Given the description of an element on the screen output the (x, y) to click on. 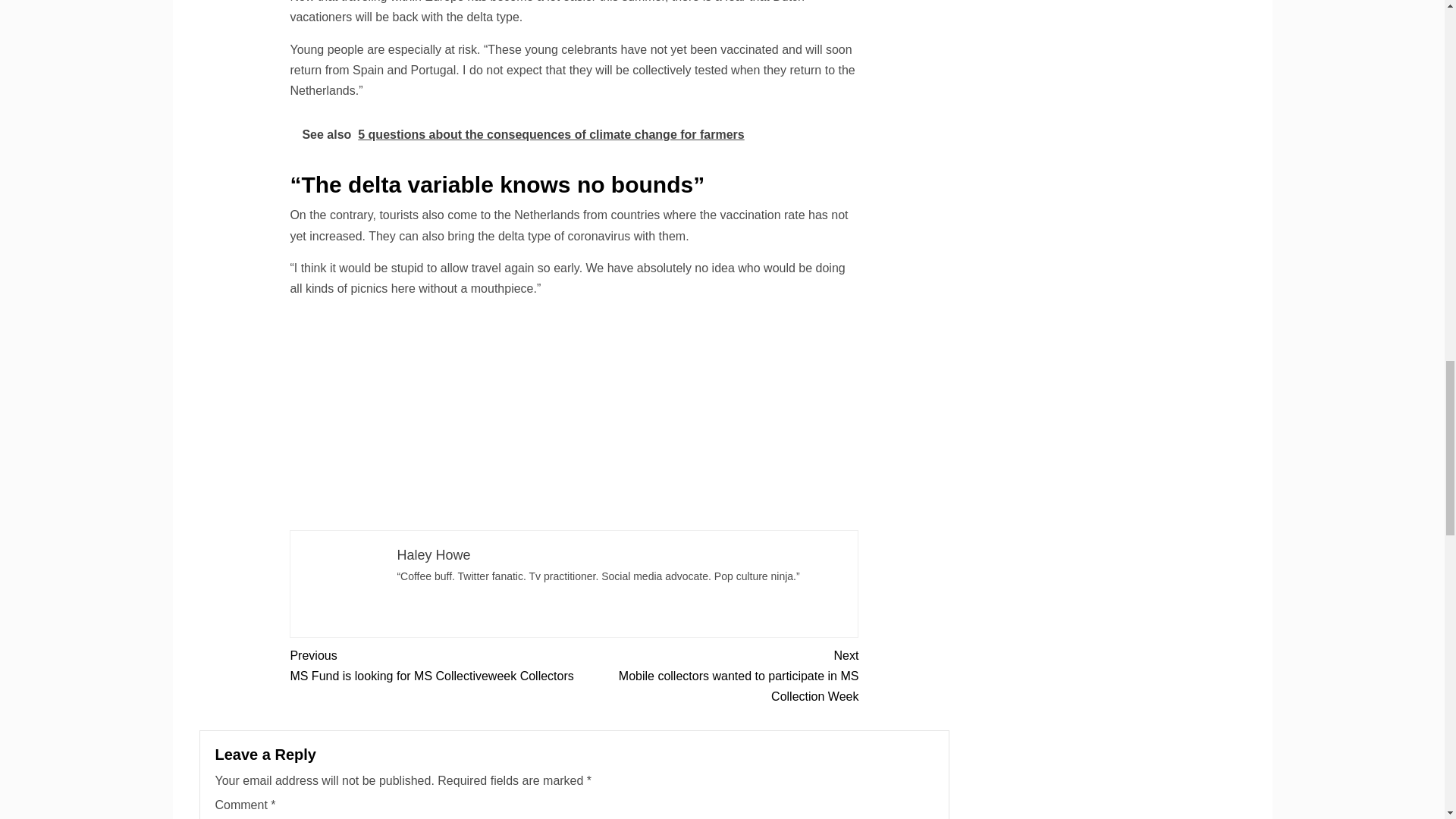
Advertisement (431, 665)
Haley Howe (574, 416)
